Given the description of an element on the screen output the (x, y) to click on. 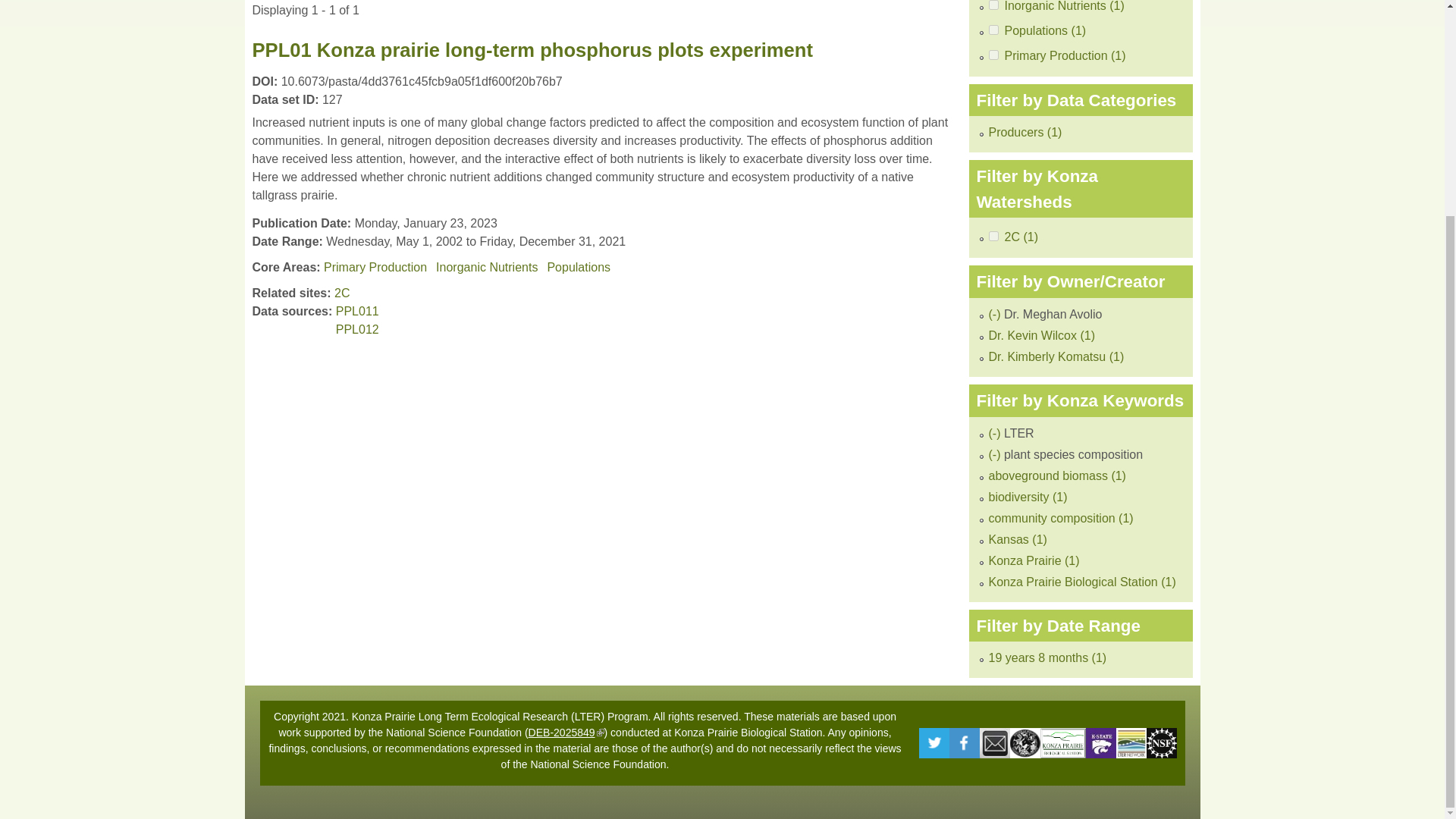
on (993, 30)
on (993, 54)
on (993, 4)
on (993, 235)
